Given the description of an element on the screen output the (x, y) to click on. 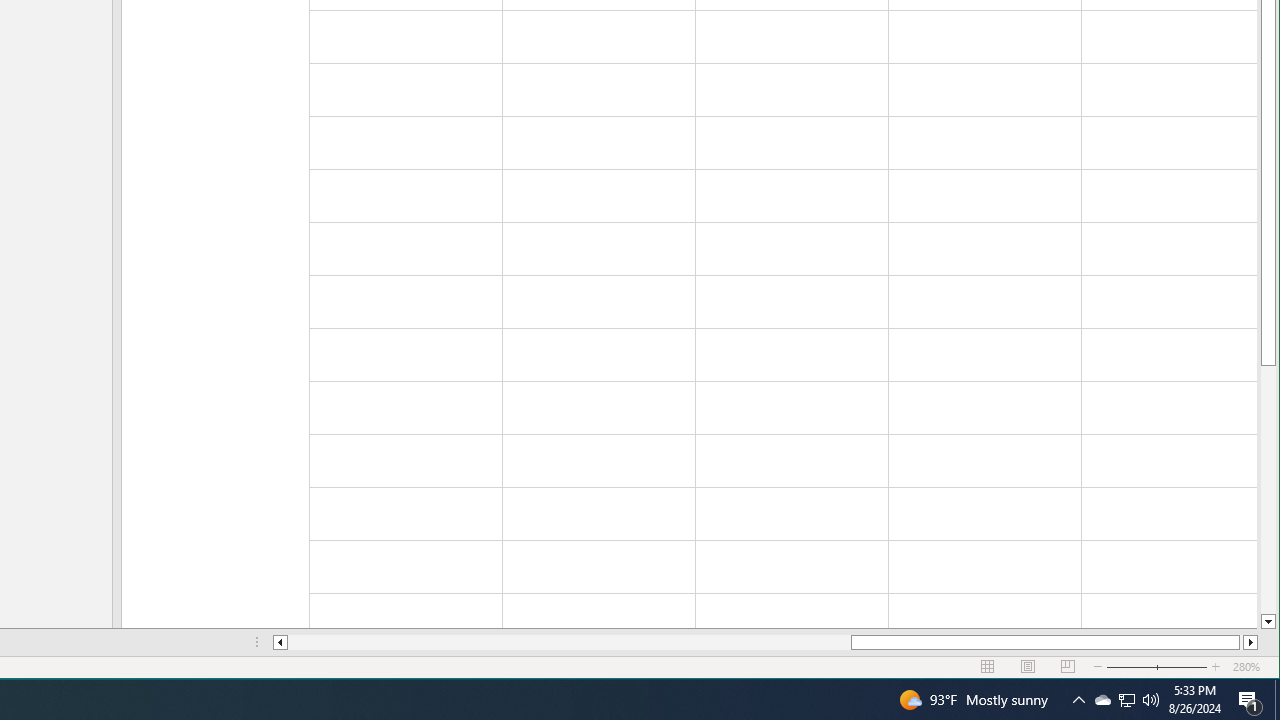
Page left (569, 642)
Notification Chevron (1078, 699)
Show desktop (1277, 699)
Q2790: 100% (1102, 699)
